Given the description of an element on the screen output the (x, y) to click on. 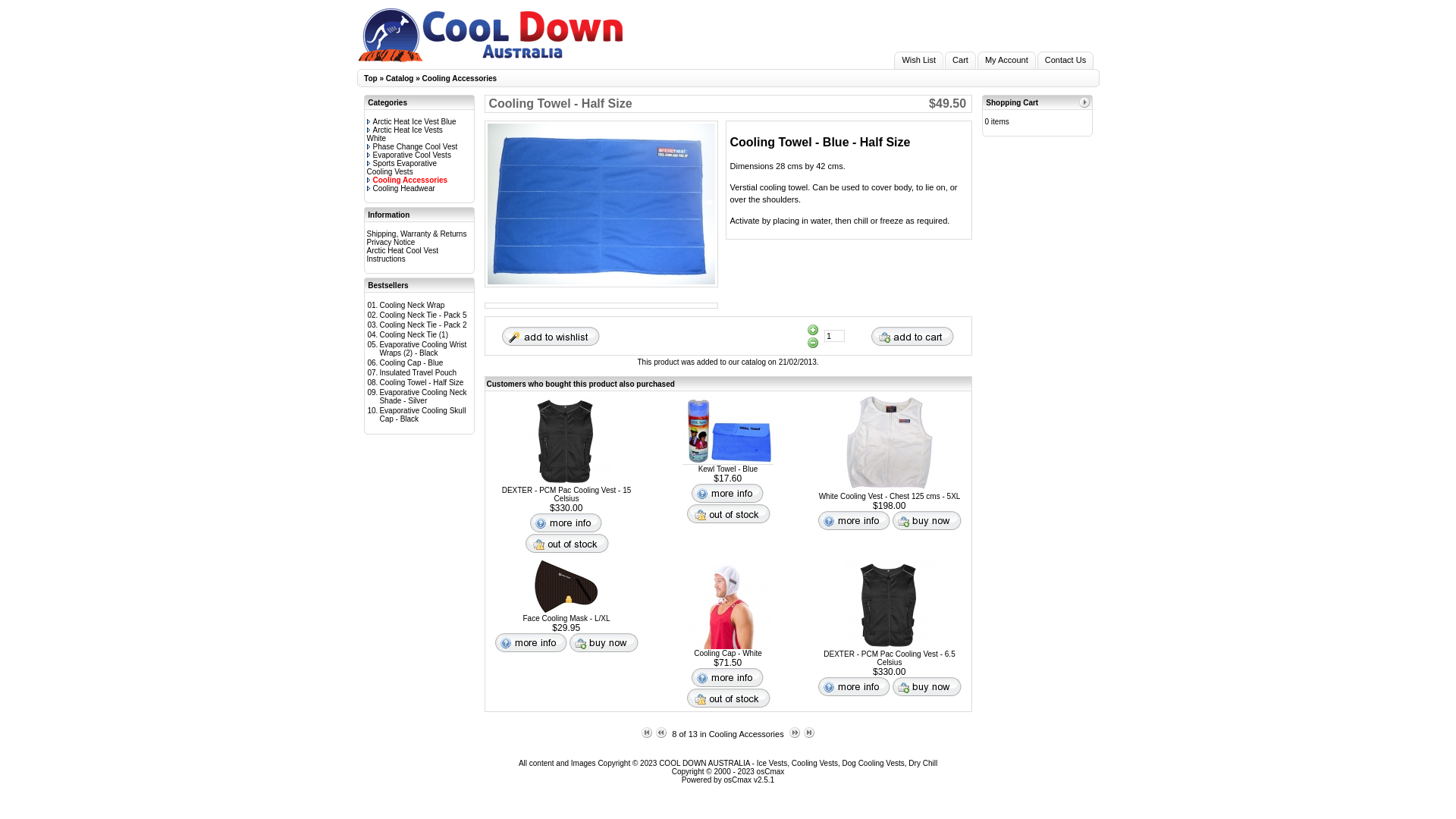
 Face Cooling Mask - L/XL  Element type: hover (565, 586)
Insulated Travel Pouch Element type: text (417, 372)
Top Element type: text (370, 78)
Evaporative Cooling Skull Cap - Black Element type: text (422, 414)
Kewl Towel - Blue Element type: text (728, 468)
Evaporative Cool Vests Element type: text (409, 154)
 DEXTER - PCM Pac Cooling Vest - 15 Celsius  Element type: hover (565, 440)
Cooling Accessories Element type: text (407, 179)
My Account Element type: text (1006, 60)
Arctic Heat Ice Vest Blue Element type: text (411, 121)
Cooling Towel - Half Size Element type: text (421, 382)
 More info  Element type: hover (726, 492)
Cooling Cap - White Element type: text (727, 653)
Cooling Neck Tie - Pack 2 Element type: text (422, 324)
Sports Evaporative Cooling Vests Element type: text (402, 167)
 Out of Stock  Element type: hover (727, 697)
Cooling Towel - Half Size Element type: hover (600, 203)
Shipping, Warranty & Returns Element type: text (417, 233)
 First Product  Element type: hover (646, 732)
Arctic Heat Cool Vest Instructions Element type: text (402, 254)
DEXTER - PCM Pac Cooling Vest - 15 Celsius Element type: text (566, 494)
 Out of Stock  Element type: hover (566, 542)
osCmax v2.5.1 Element type: text (748, 779)
Evaporative Cooling Wrist Wraps (2) - Black Element type: text (422, 348)
Phase Change Cool Vest Element type: text (412, 146)
Cooling Cap - Blue Element type: text (410, 362)
 More info  Element type: hover (530, 642)
Catalog Element type: text (399, 78)
White Cooling Vest - Chest 125 cms - 5XL Element type: text (889, 496)
Privacy Notice Element type: text (391, 242)
osCmax Element type: text (769, 771)
Arctic Heat Ice Vests White Element type: text (404, 133)
 Wish List  Element type: hover (549, 335)
 White Cooling Vest - Chest 125 cms - 5XL  Element type: hover (889, 443)
DEXTER - PCM Pac Cooling Vest - 6.5 Celsius Element type: text (888, 657)
Cooling Neck Tie - Pack 5 Element type: text (422, 314)
 More info  Element type: hover (726, 677)
Cart Element type: text (959, 60)
Cooling Accessories Element type: text (746, 733)
 More info  Element type: hover (565, 522)
Wish List Element type: text (918, 60)
 Buy Now  Element type: hover (926, 686)
Cooling Headwear Element type: text (401, 188)
 DEXTER - PCM Pac Cooling Vest - 6.5 Celsius  Element type: hover (889, 603)
 Last Product  Element type: hover (809, 732)
Evaporative Cooling Neck Shade - Silver Element type: text (422, 396)
 Buy Now  Element type: hover (603, 642)
 Next Product  Element type: hover (794, 732)
Cooling Accessories Element type: text (459, 78)
Contact Us Element type: text (1065, 60)
 Out of Stock  Element type: hover (727, 513)
 more  Element type: hover (1084, 102)
 Previous Product  Element type: hover (661, 732)
 More info  Element type: hover (853, 520)
Cooling Neck Tie (1) Element type: text (413, 334)
Face Cooling Mask - L/XL Element type: text (565, 618)
 Buy Now  Element type: hover (926, 520)
 Kewl Towel - Blue  Element type: hover (727, 429)
 More info  Element type: hover (853, 686)
 Add to Cart  Element type: hover (911, 335)
 Cooling Cap - White  Element type: hover (727, 603)
Cooling Neck Wrap Element type: text (411, 305)
Shopping Cart Element type: text (1011, 102)
